Given the description of an element on the screen output the (x, y) to click on. 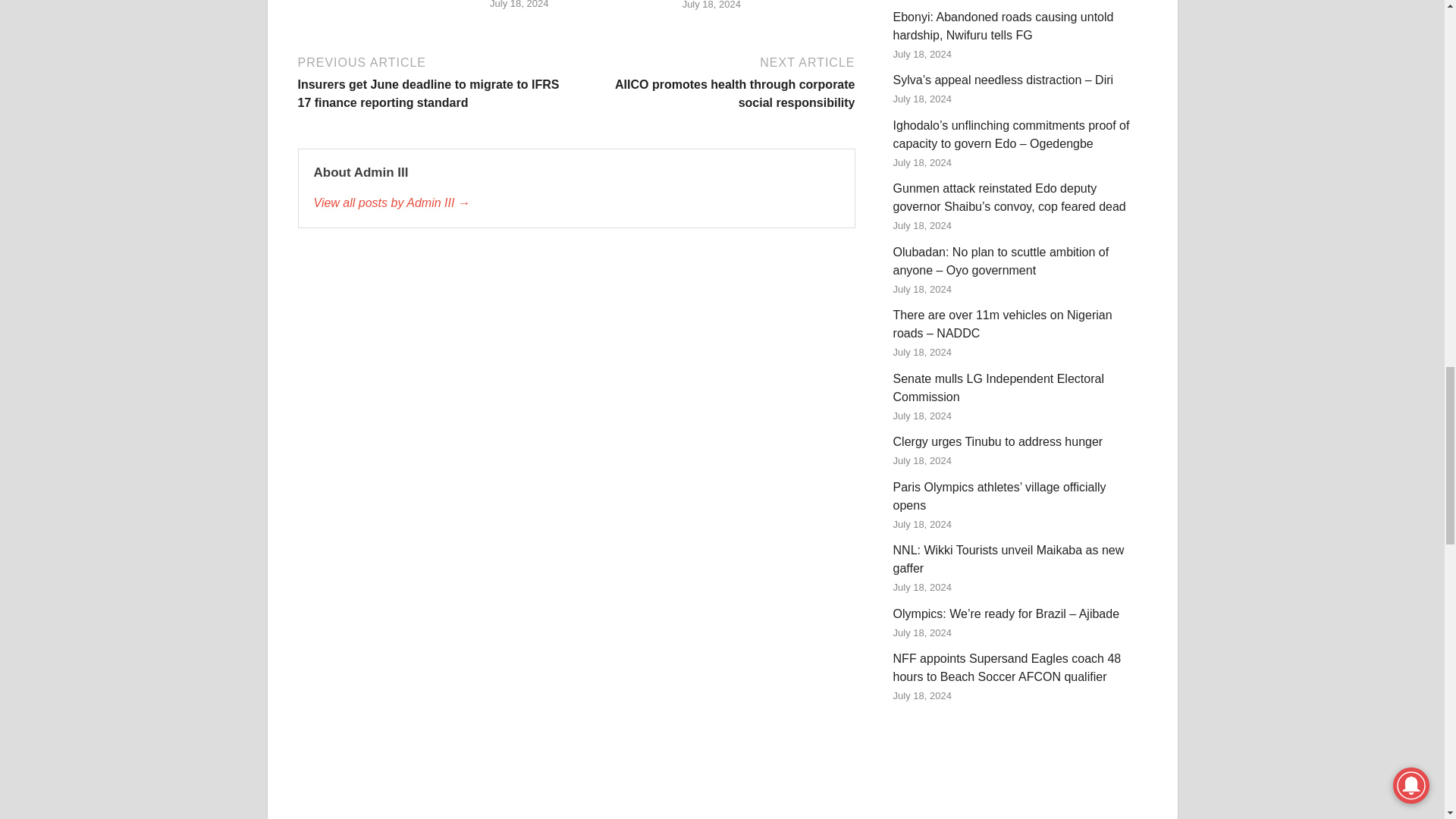
Admin III (577, 203)
